Given the description of an element on the screen output the (x, y) to click on. 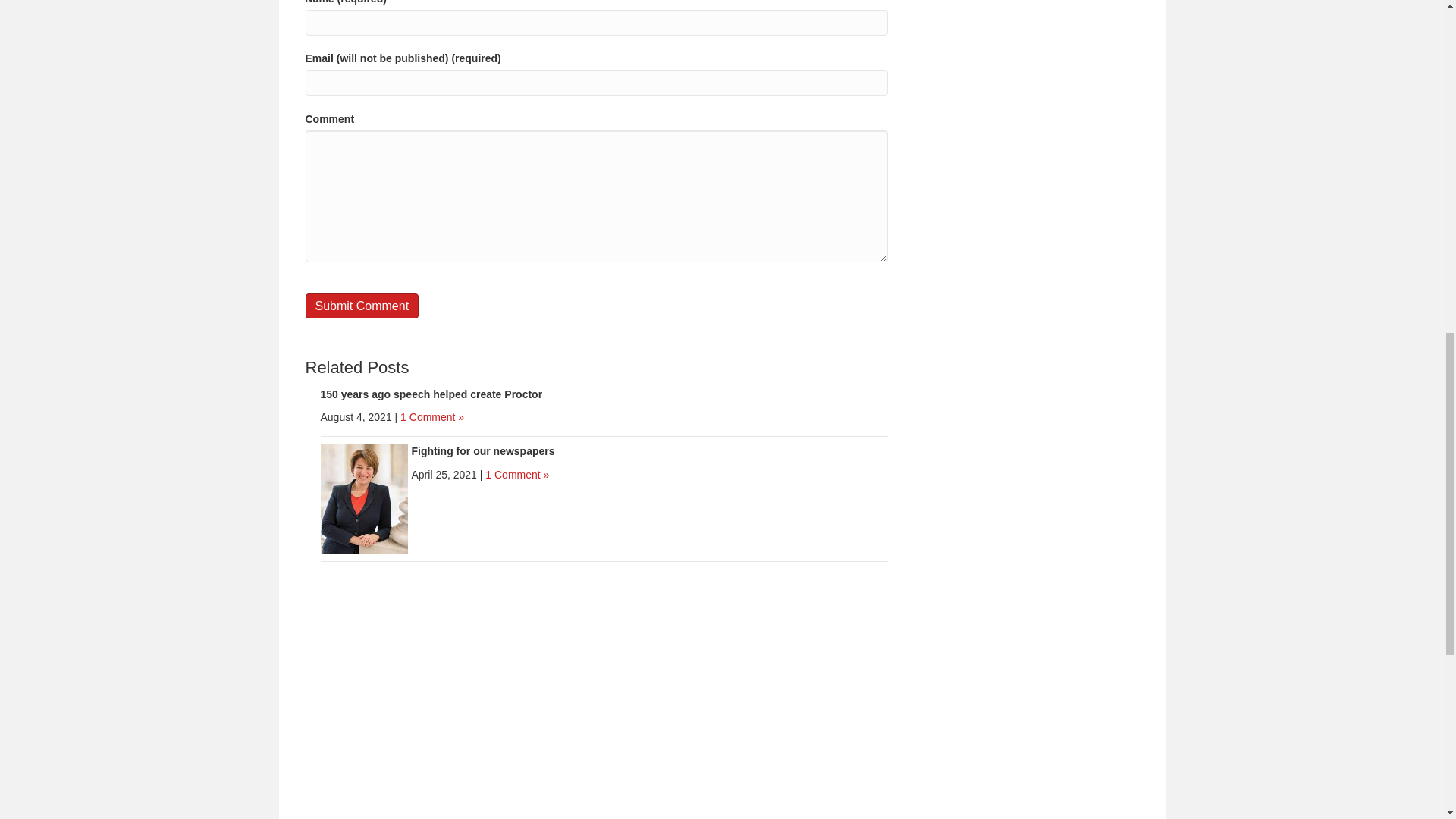
Fighting for our newspapers (363, 498)
Submit Comment (361, 305)
150 years ago speech helped create Proctor (430, 394)
Fighting for our newspapers (482, 451)
